Given the description of an element on the screen output the (x, y) to click on. 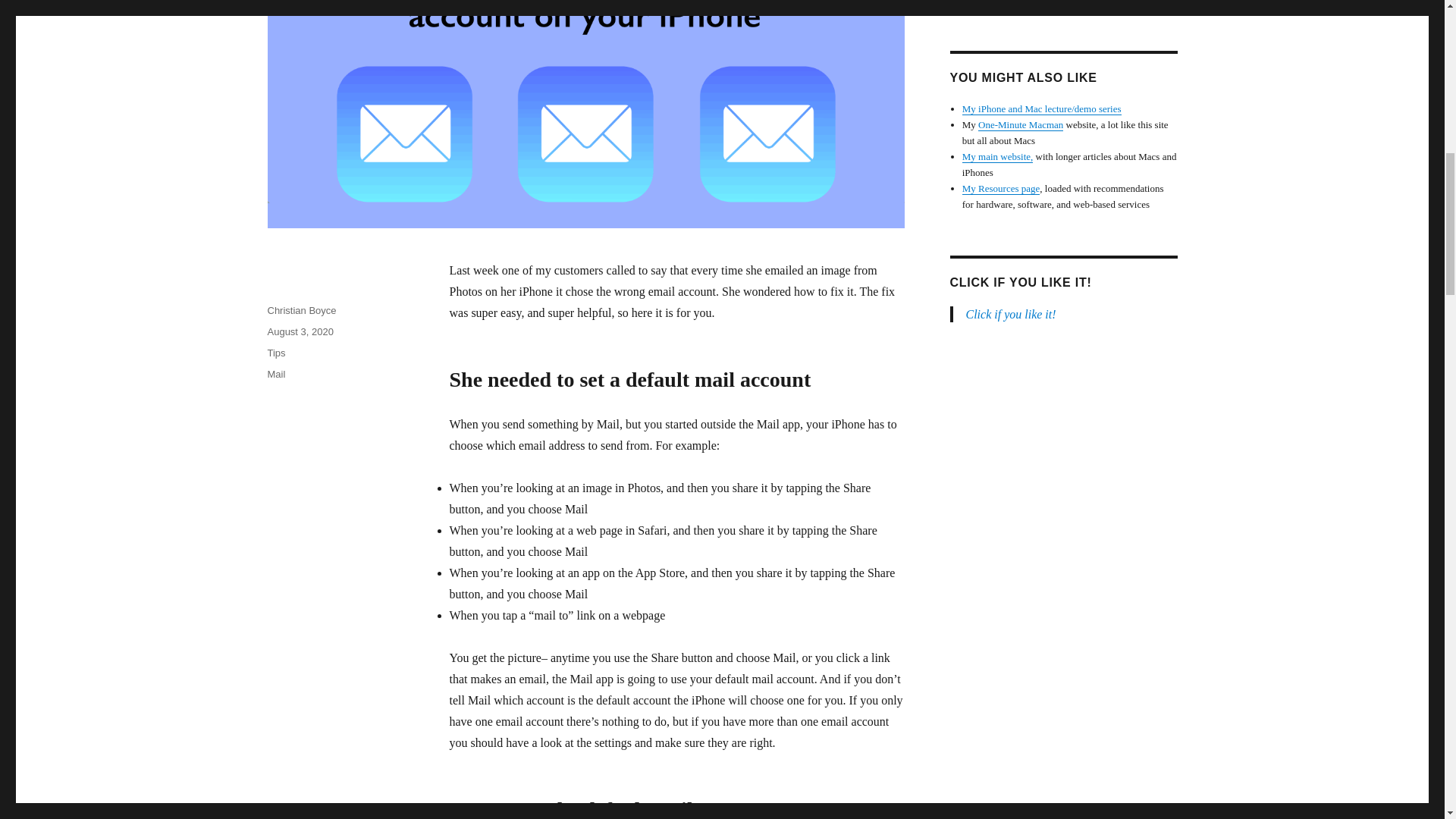
August 3, 2020 (299, 331)
My main website, (997, 156)
Mail (275, 374)
One-Minute Macman (1020, 124)
Click if you like it! (1011, 314)
let me know (1010, 2)
CLICK IF YOU LIKE IT! (1019, 282)
Christian Boyce (301, 310)
My Resources page (1001, 188)
Tips (275, 352)
